Given the description of an element on the screen output the (x, y) to click on. 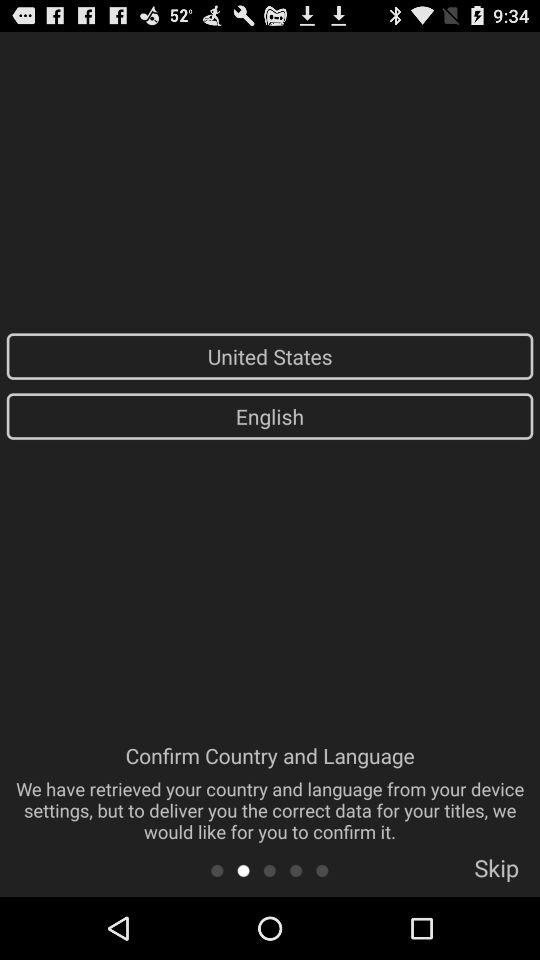
go to fourth page (295, 870)
